Given the description of an element on the screen output the (x, y) to click on. 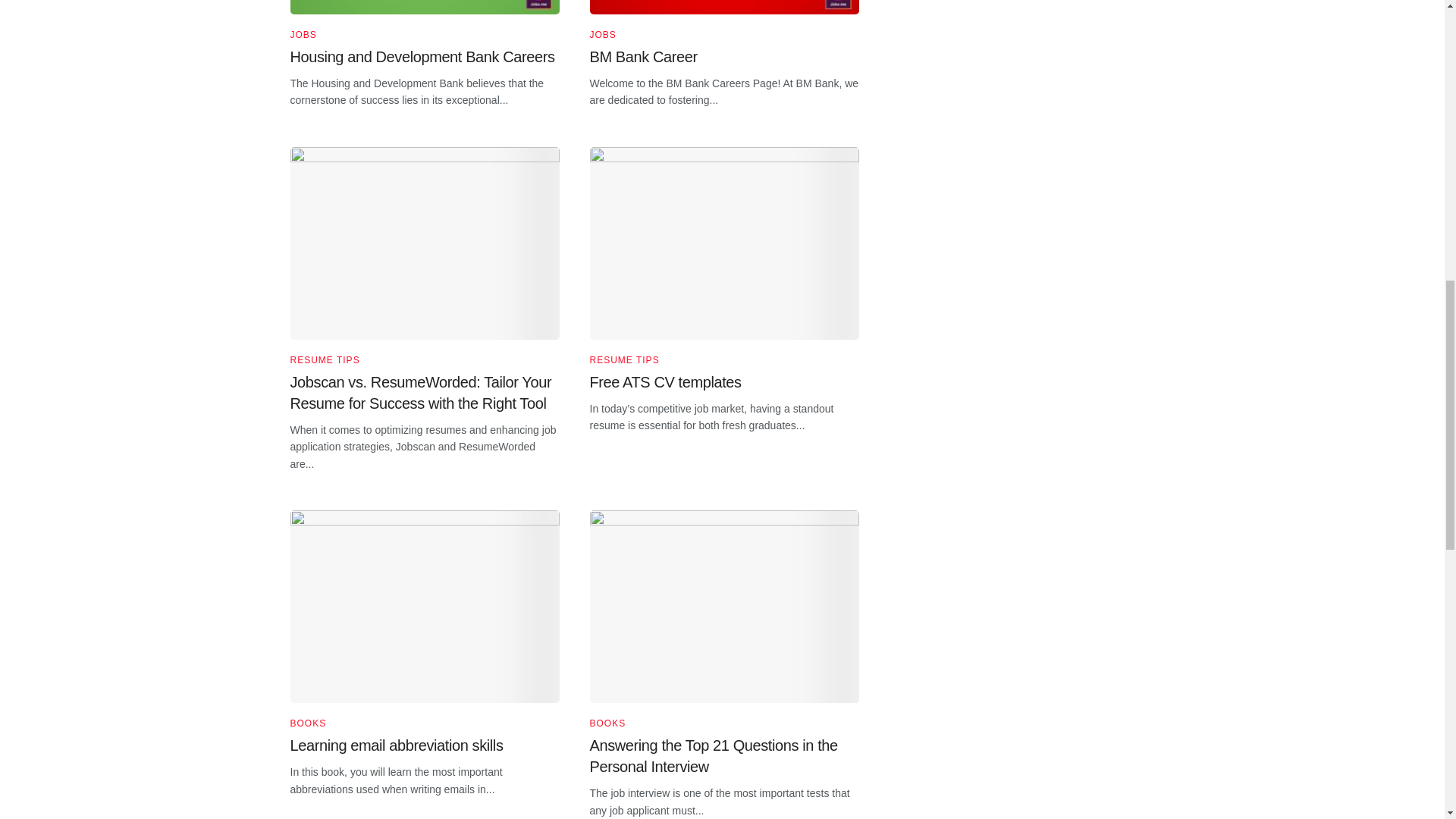
Housing and Development Bank Careers (421, 56)
RESUME TIPS (624, 359)
RESUME TIPS (324, 359)
JOBS (602, 34)
BM Bank Career (643, 56)
JOBS (302, 34)
